Given the description of an element on the screen output the (x, y) to click on. 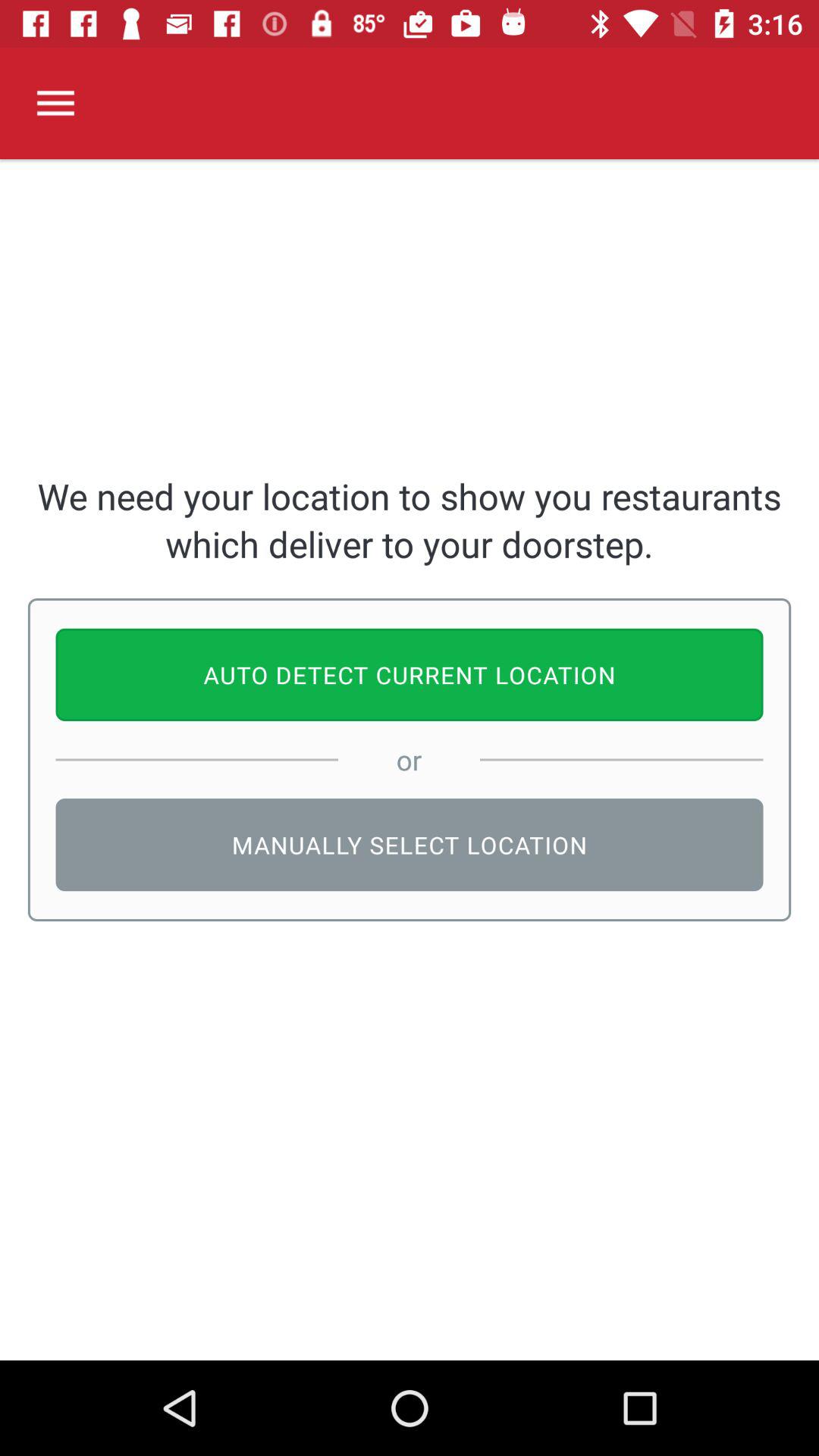
open icon below or icon (409, 844)
